Given the description of an element on the screen output the (x, y) to click on. 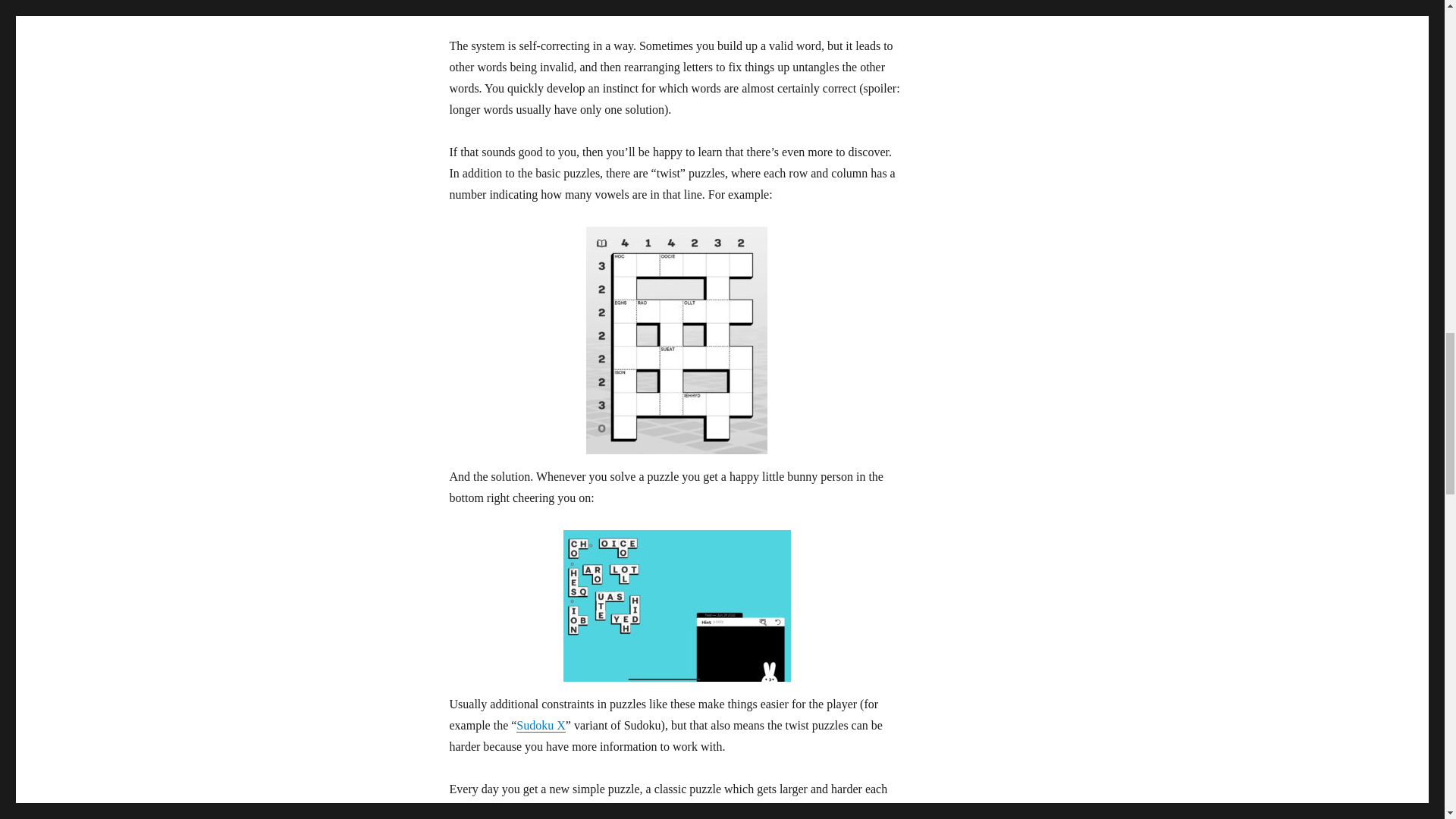
Sudoku X (540, 725)
